Given the description of an element on the screen output the (x, y) to click on. 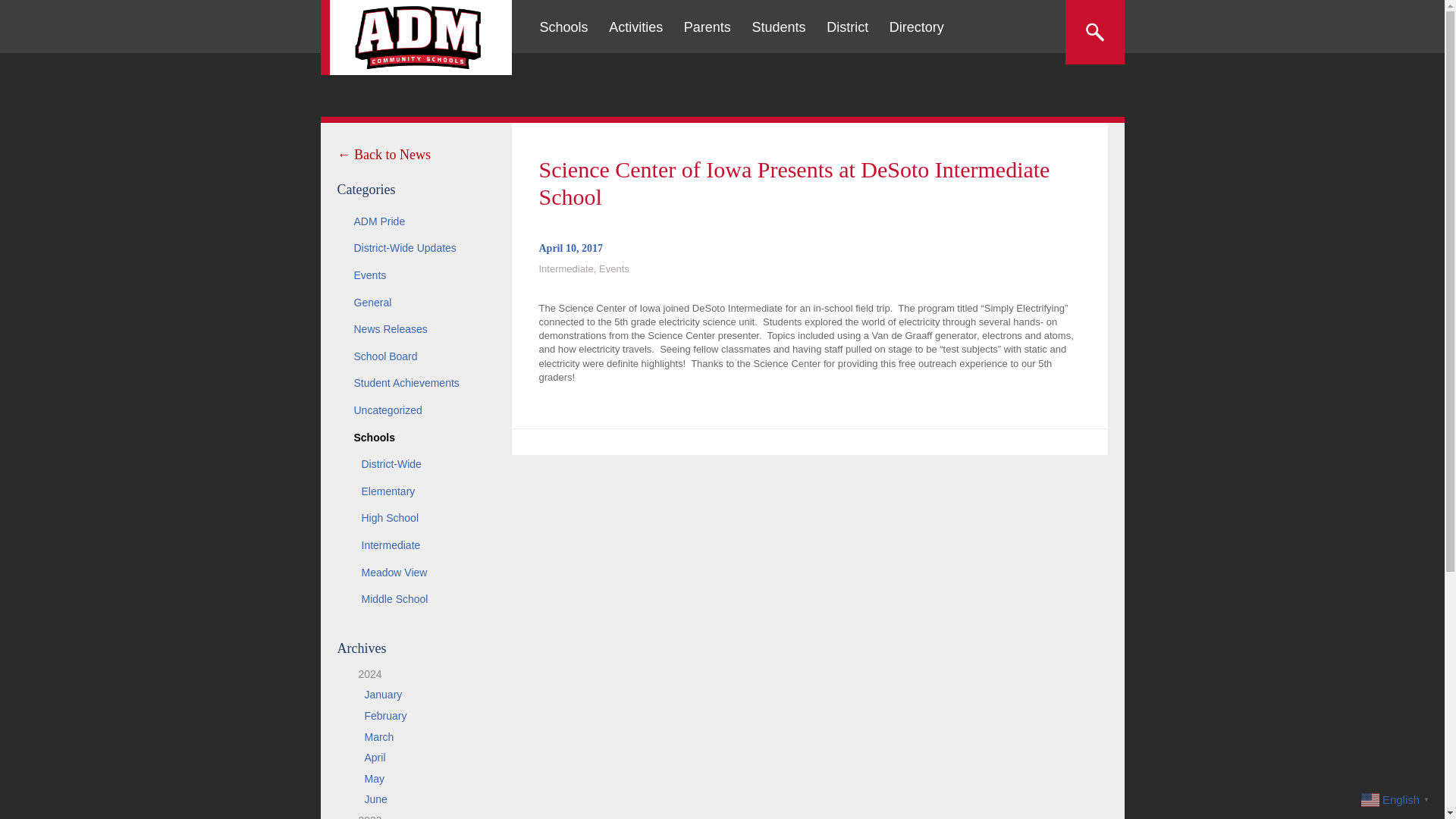
Students (778, 27)
ADM Pride (415, 221)
Activities (635, 27)
District-Wide (415, 464)
District-Wide Updates (415, 248)
Events (415, 275)
April (374, 757)
Search the site (1094, 32)
Middle School (415, 599)
Elementary (415, 492)
2024 (363, 674)
News Releases (415, 329)
Meadow View (415, 573)
February (385, 715)
January (382, 694)
